Given the description of an element on the screen output the (x, y) to click on. 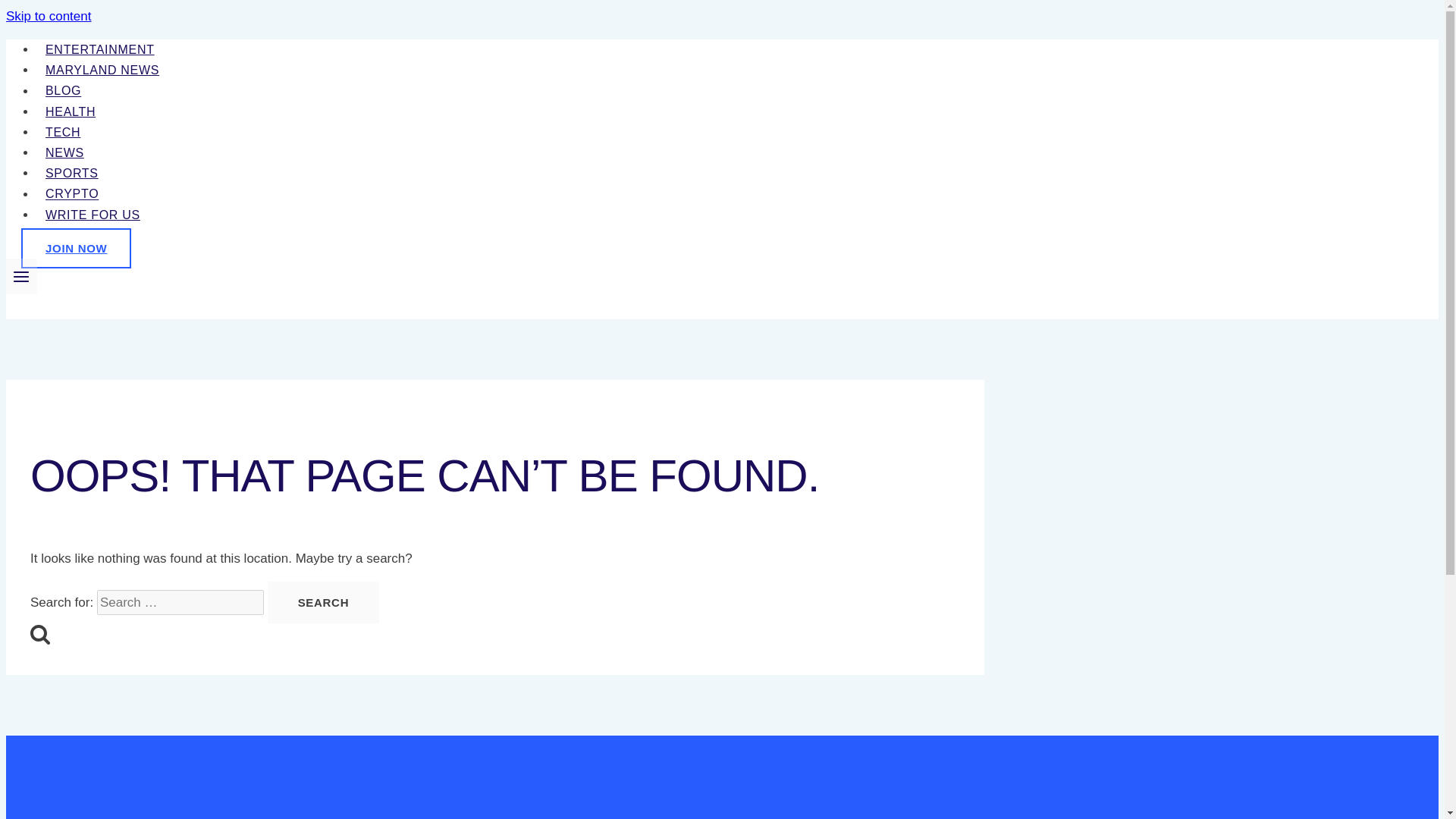
JOIN NOW (76, 248)
MARYLAND NEWS (102, 69)
WRITE FOR US (92, 214)
NEWS (64, 152)
CRYPTO (71, 193)
Skip to content (47, 16)
BLOG (63, 90)
TECH (62, 131)
HEALTH (70, 111)
Search (323, 602)
